Given the description of an element on the screen output the (x, y) to click on. 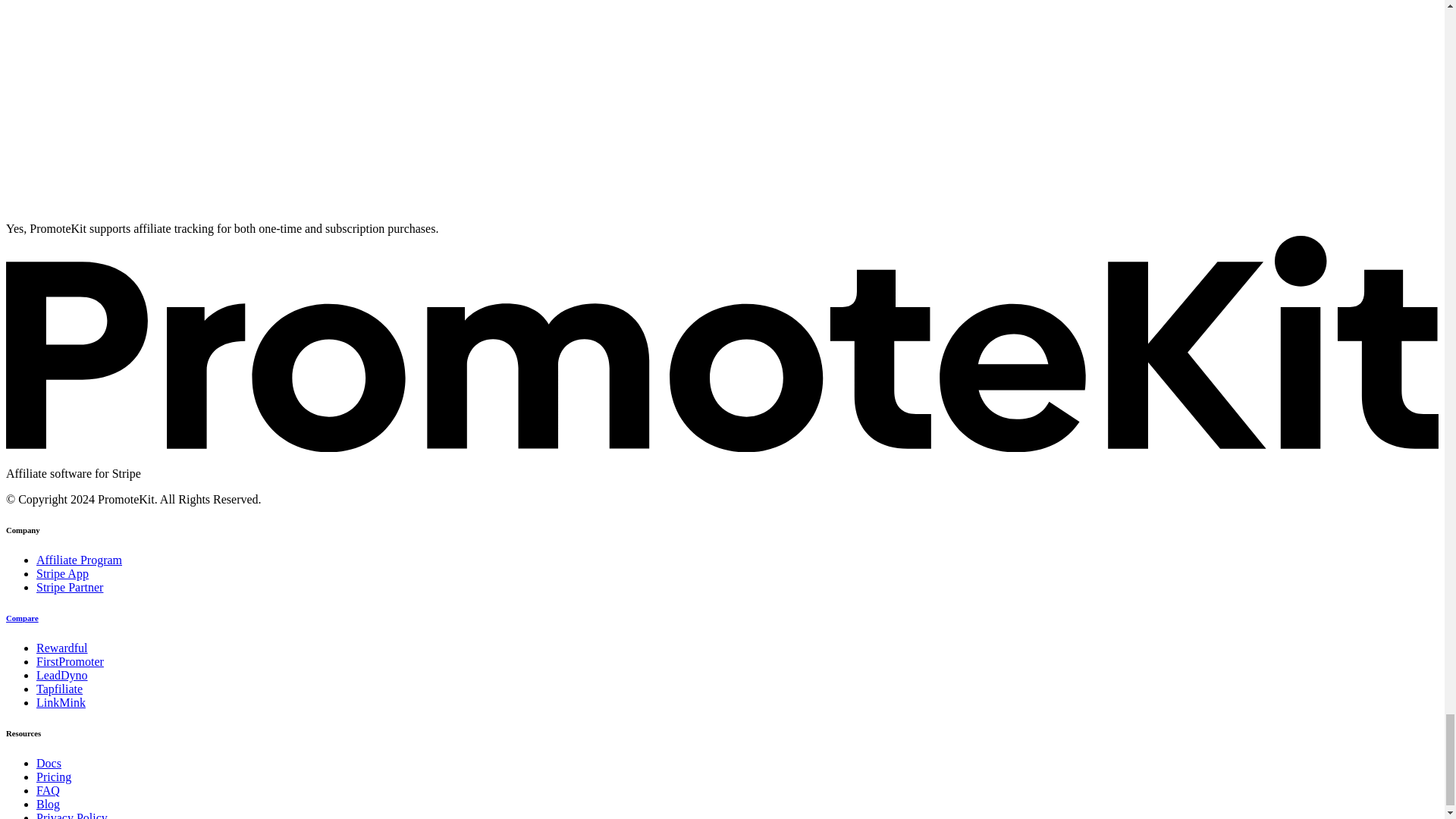
Stripe App (62, 573)
LinkMink (60, 702)
FAQ (47, 789)
FirstPromoter (69, 661)
Affiliate Program (79, 559)
LeadDyno (61, 675)
Tapfiliate (59, 688)
Stripe Partner (69, 586)
Docs (48, 762)
Blog (47, 803)
Pricing (53, 776)
Rewardful (61, 647)
